Given the description of an element on the screen output the (x, y) to click on. 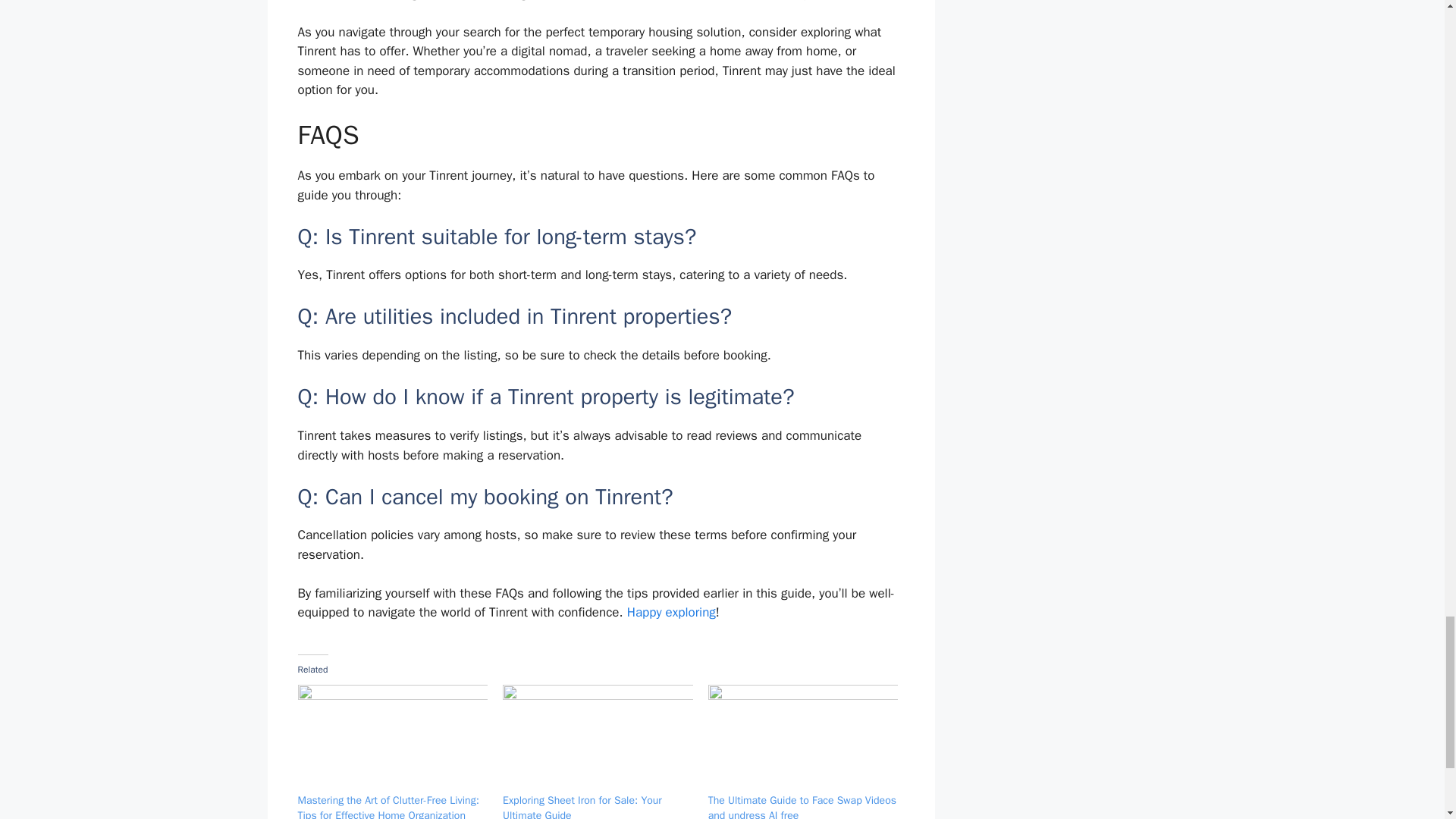
The Ultimate Guide to Face Swap Videos and undress AI free (801, 806)
Exploring Sheet Iron for Sale: Your Ultimate Guide (582, 806)
Happy exploring (671, 611)
Exploring Sheet Iron for Sale: Your Ultimate Guide (582, 806)
The Ultimate Guide to Face Swap Videos and undress AI free (801, 806)
Exploring Sheet Iron for Sale: Your Ultimate Guide (597, 738)
The Ultimate Guide to Face Swap Videos and undress AI free (802, 738)
